Given the description of an element on the screen output the (x, y) to click on. 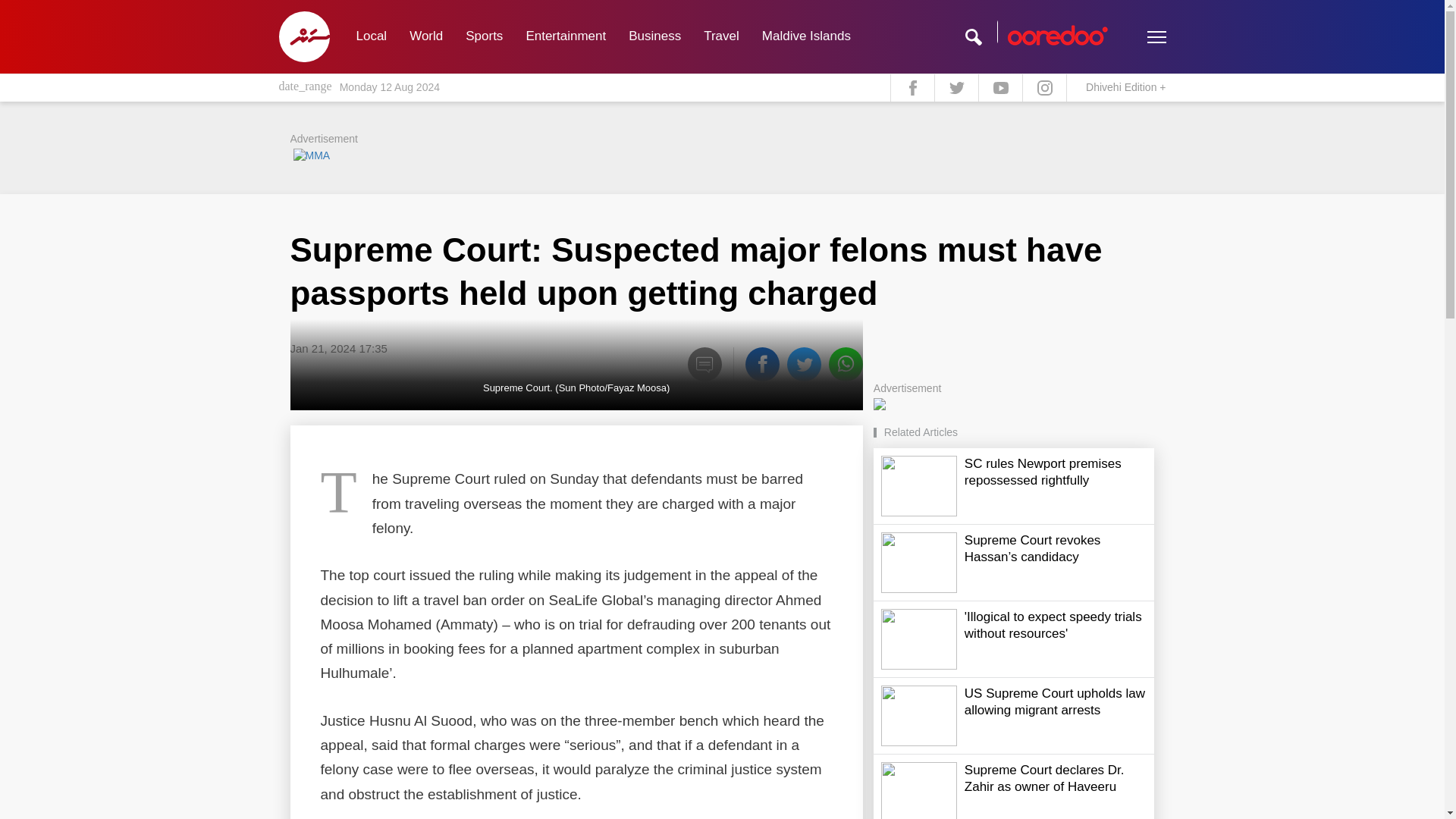
Travel (722, 36)
Maldive Islands (806, 36)
Sports (483, 36)
Business (655, 36)
Local (370, 36)
World (425, 36)
Entertainment (565, 36)
